Given the description of an element on the screen output the (x, y) to click on. 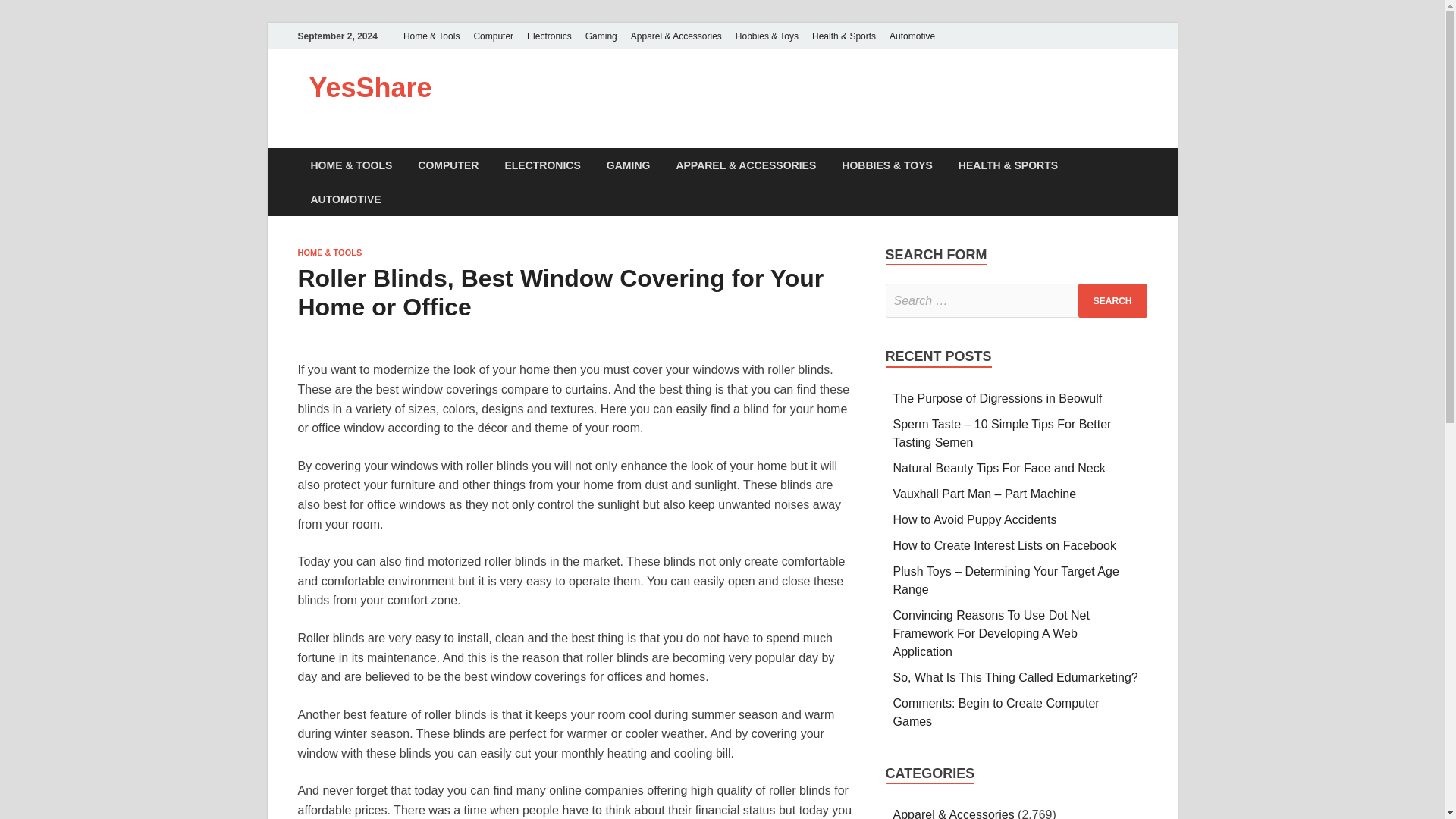
Automotive (912, 35)
Natural Beauty Tips For Face and Neck (999, 468)
How to Avoid Puppy Accidents (975, 519)
Gaming (601, 35)
ELECTRONICS (542, 164)
AUTOMOTIVE (345, 198)
Search (1112, 300)
GAMING (628, 164)
COMPUTER (448, 164)
